Given the description of an element on the screen output the (x, y) to click on. 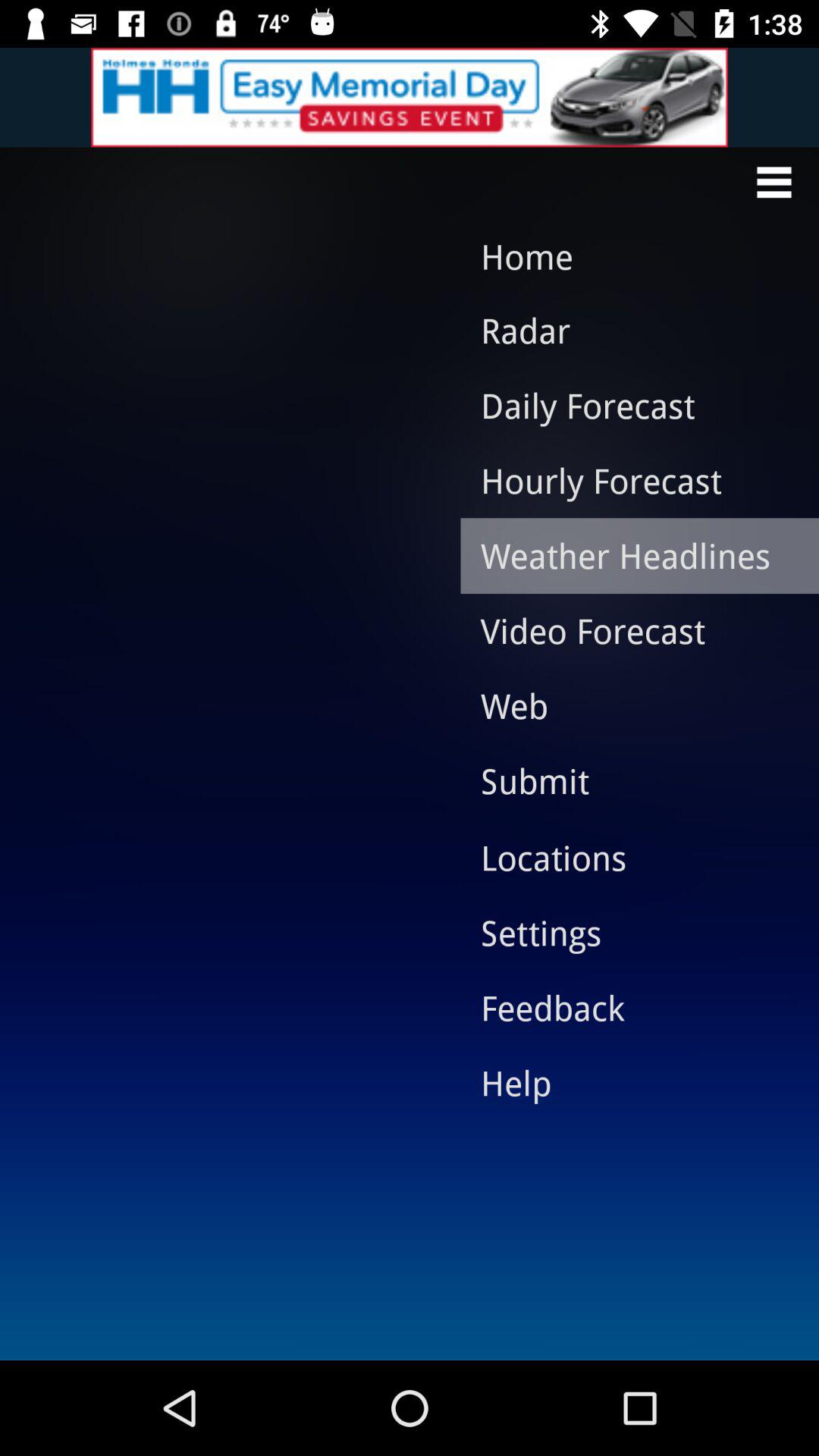
press icon below feedback (627, 1082)
